Given the description of an element on the screen output the (x, y) to click on. 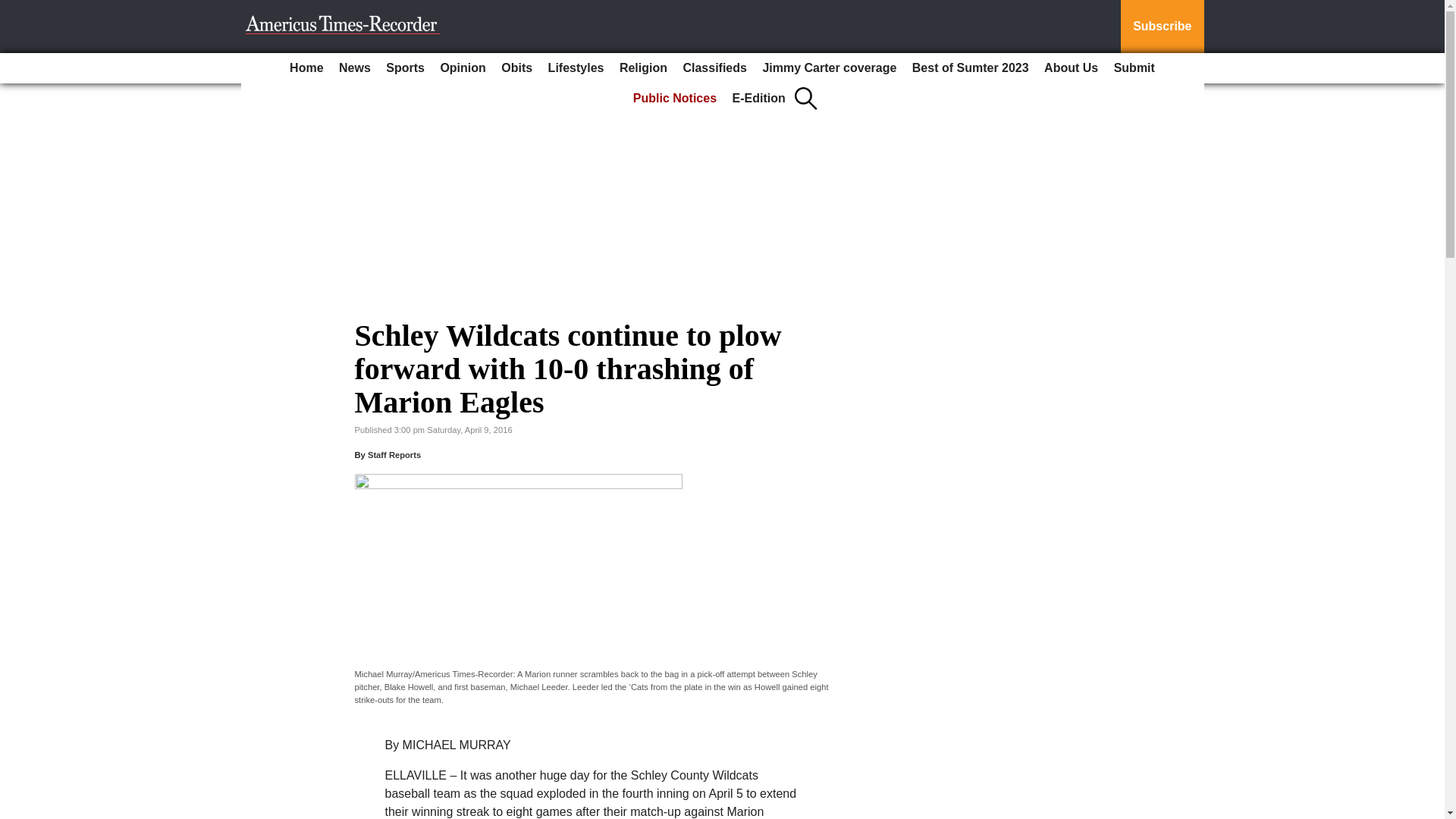
Sports (405, 68)
Subscribe (1162, 26)
Opinion (462, 68)
Best of Sumter 2023 (970, 68)
Jimmy Carter coverage (828, 68)
Public Notices (674, 98)
Classifieds (714, 68)
Home (306, 68)
E-Edition (759, 98)
Submit (1134, 68)
